Given the description of an element on the screen output the (x, y) to click on. 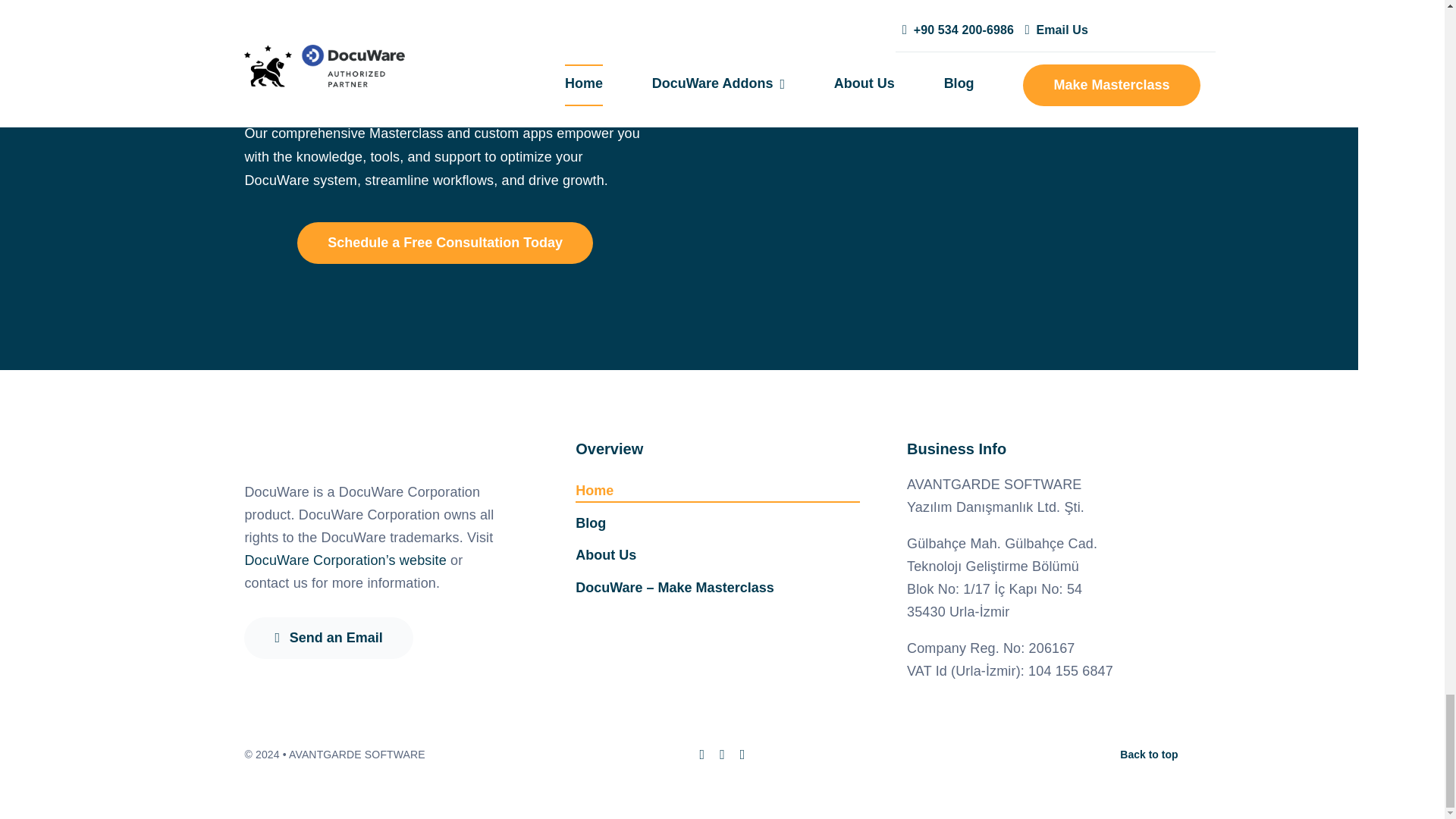
Delivering DocuWare Expertise (970, 21)
